Given the description of an element on the screen output the (x, y) to click on. 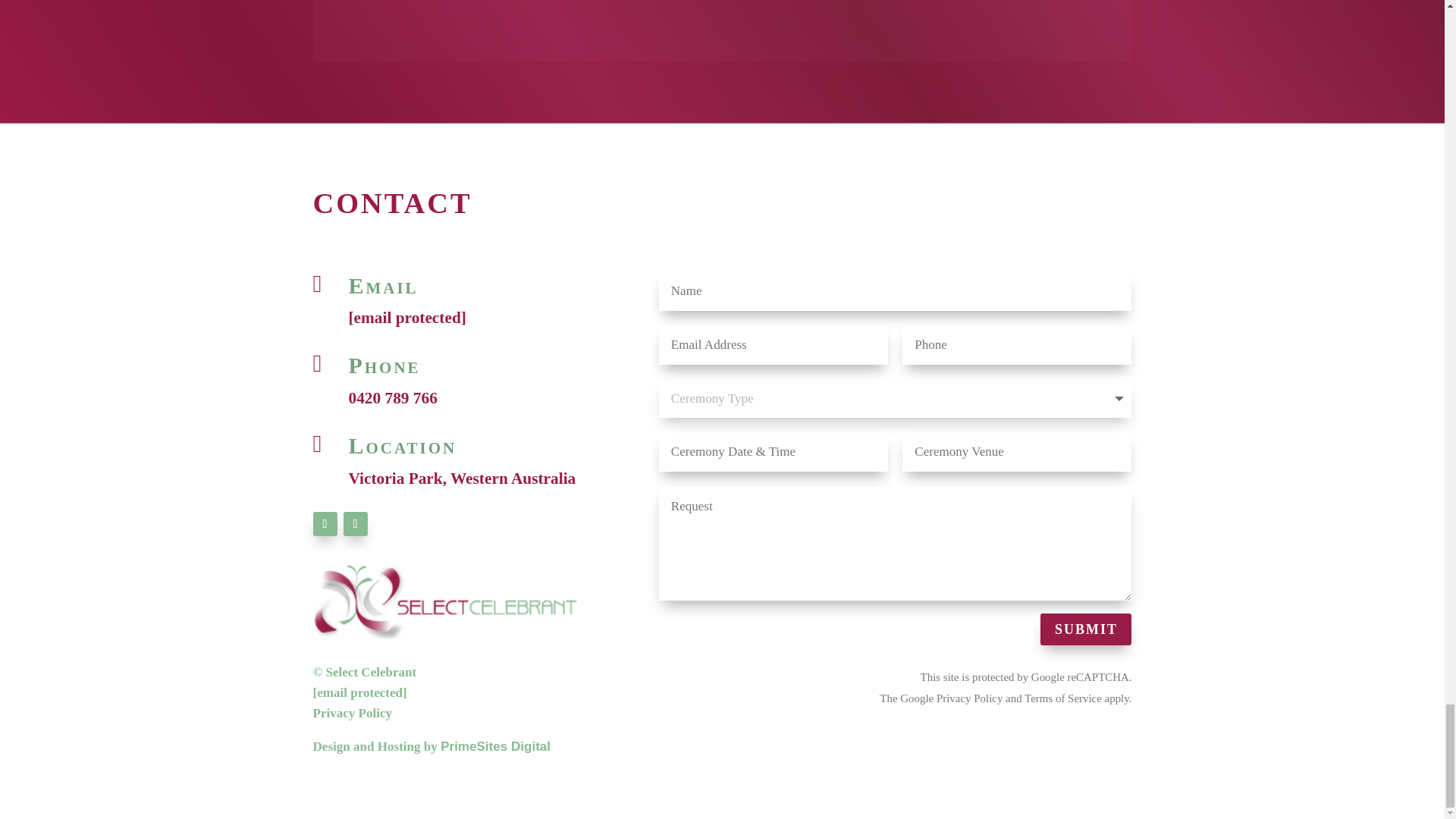
Follow on Instagram (354, 523)
Follow on Facebook (324, 523)
Select Celebrant (445, 601)
